Given the description of an element on the screen output the (x, y) to click on. 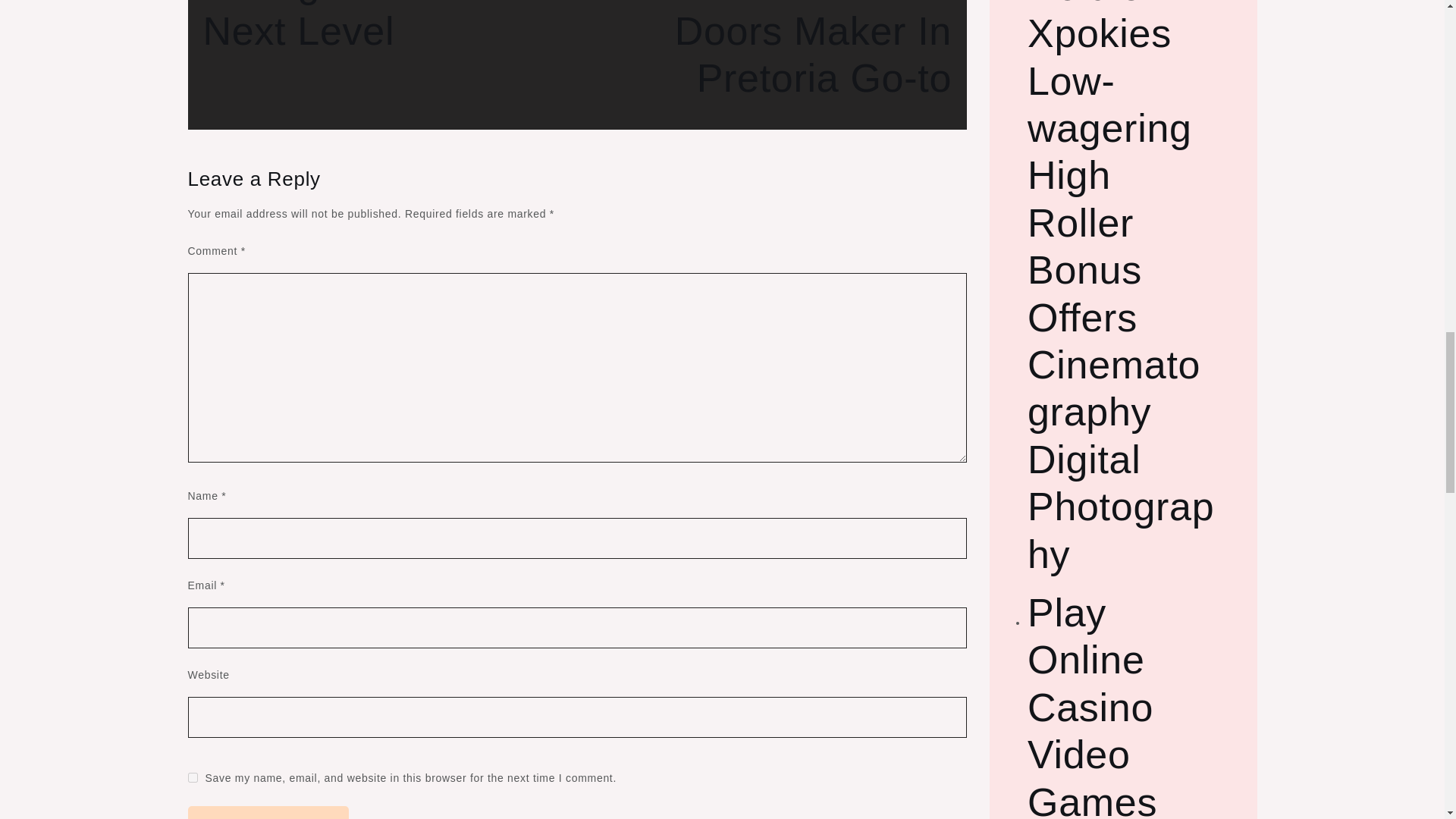
yes (192, 777)
Post Comment (390, 27)
Post Comment (764, 50)
